Given the description of an element on the screen output the (x, y) to click on. 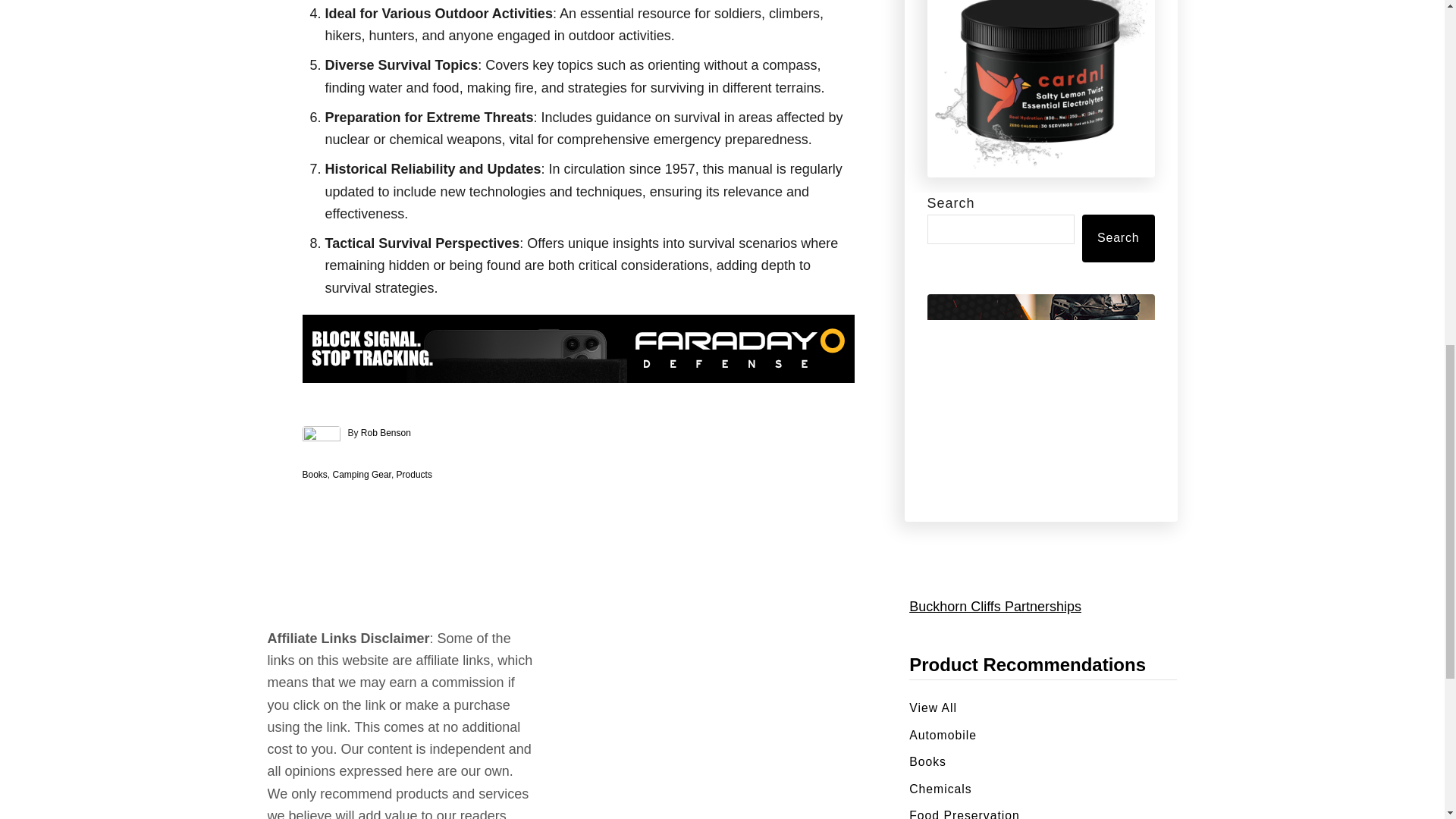
Books (313, 474)
Camping Gear (362, 474)
Search (1117, 238)
Products (414, 474)
Rob Benson (385, 432)
